Given the description of an element on the screen output the (x, y) to click on. 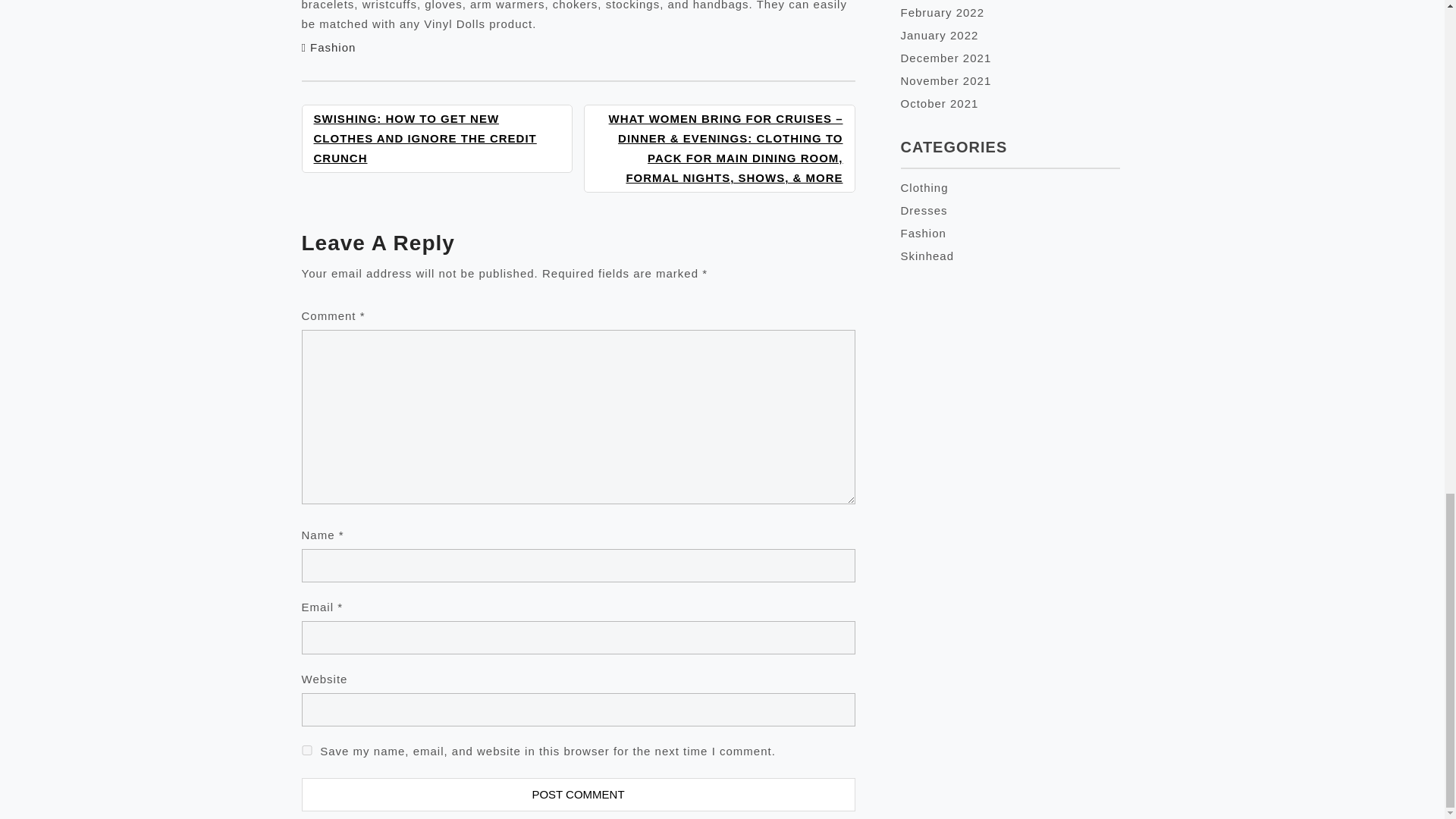
yes (307, 750)
Fashion (332, 47)
October 2021 (939, 103)
January 2022 (939, 34)
February 2022 (943, 11)
Post Comment (578, 794)
November 2021 (946, 80)
December 2021 (946, 57)
Clothing (925, 187)
Post Comment (578, 794)
